Given the description of an element on the screen output the (x, y) to click on. 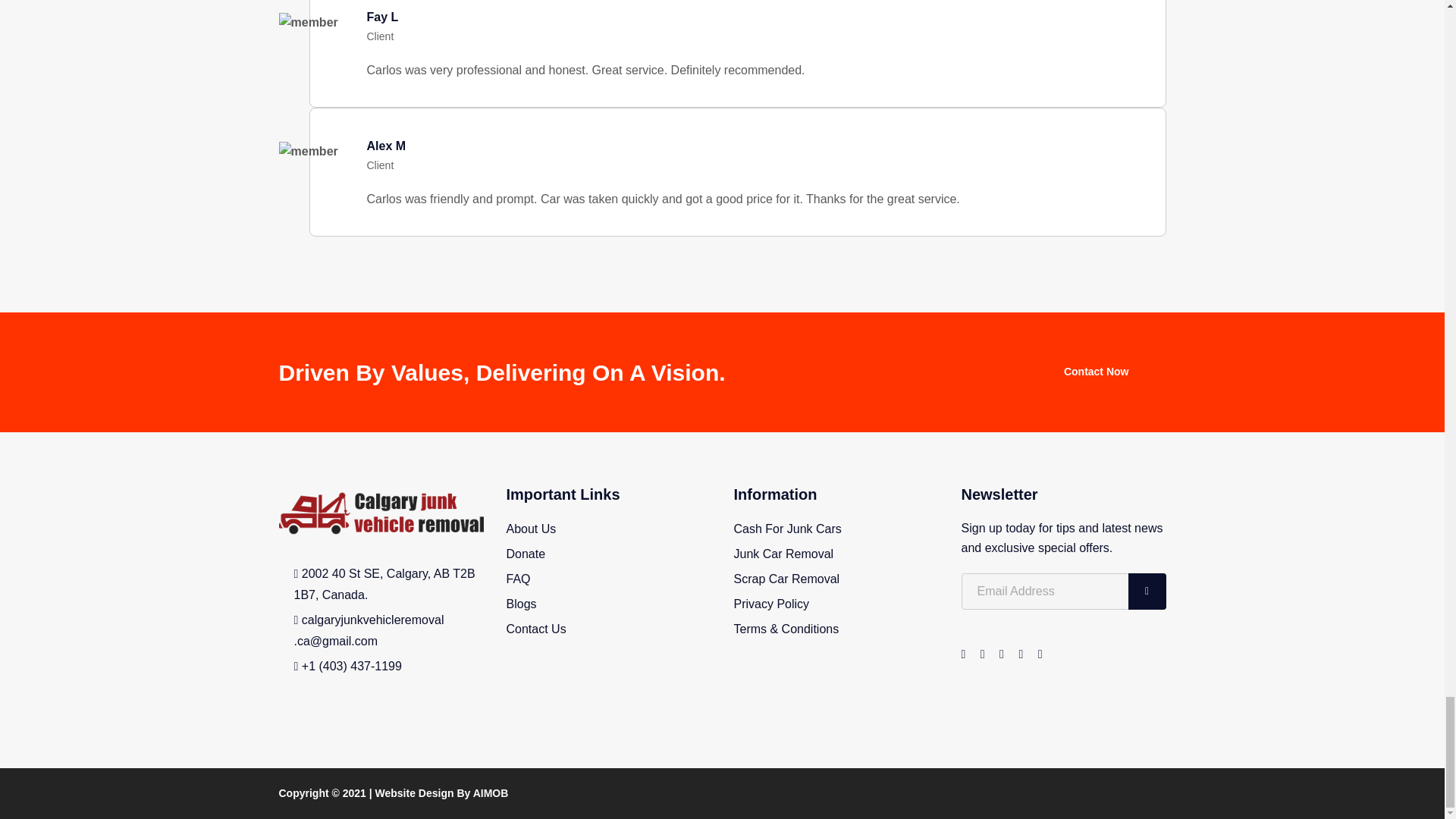
Donate (526, 553)
Blogs (521, 603)
About Us (531, 528)
FAQ (518, 578)
Contact Now (1096, 372)
